Given the description of an element on the screen output the (x, y) to click on. 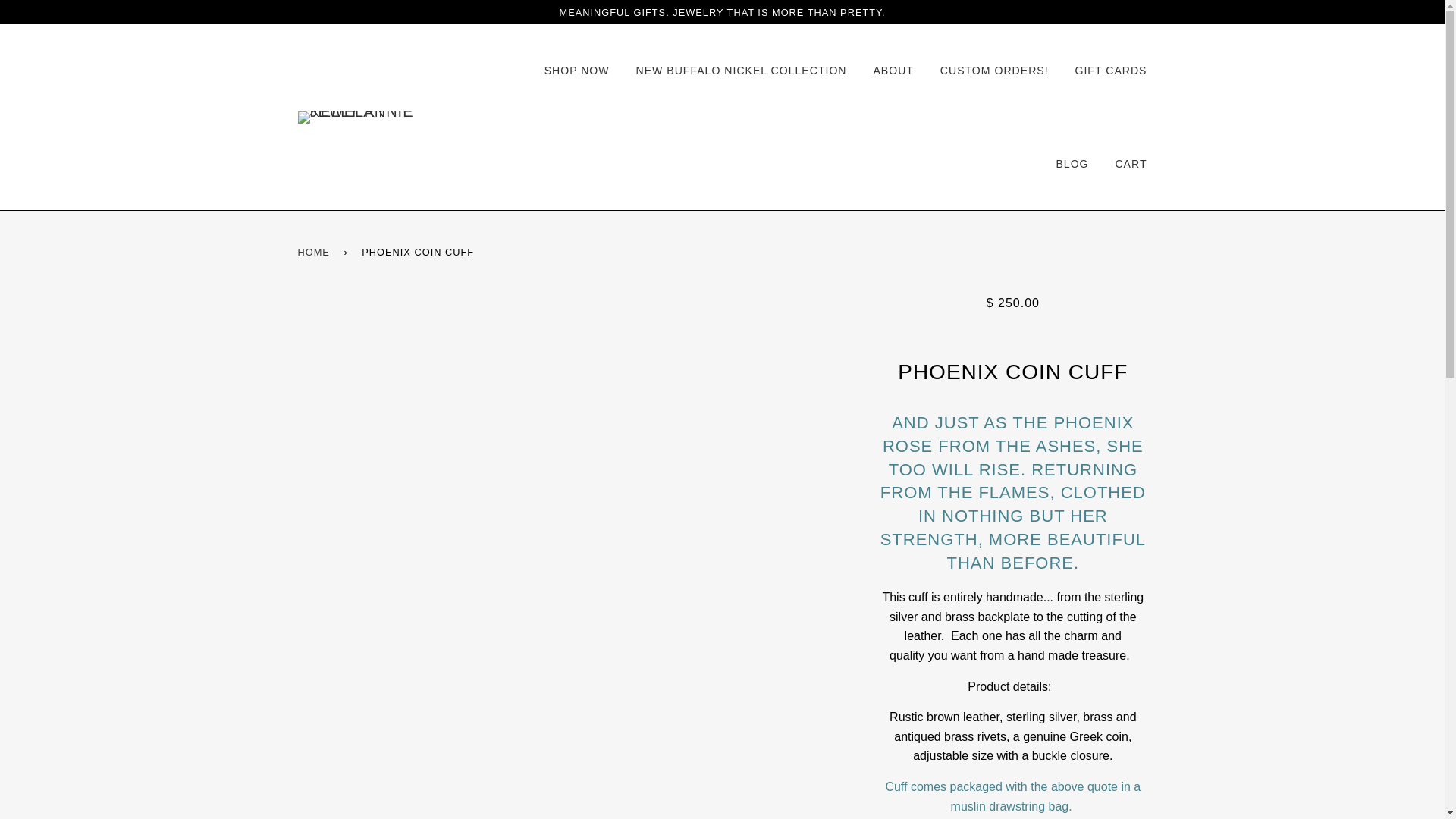
CUSTOM ORDERS! (994, 70)
HOME (315, 252)
MEANINGFUL GIFTS. JEWELRY THAT IS MORE THAN PRETTY. (722, 12)
NEW BUFFALO NICKEL COLLECTION (739, 70)
Back to the frontpage (315, 252)
